Given the description of an element on the screen output the (x, y) to click on. 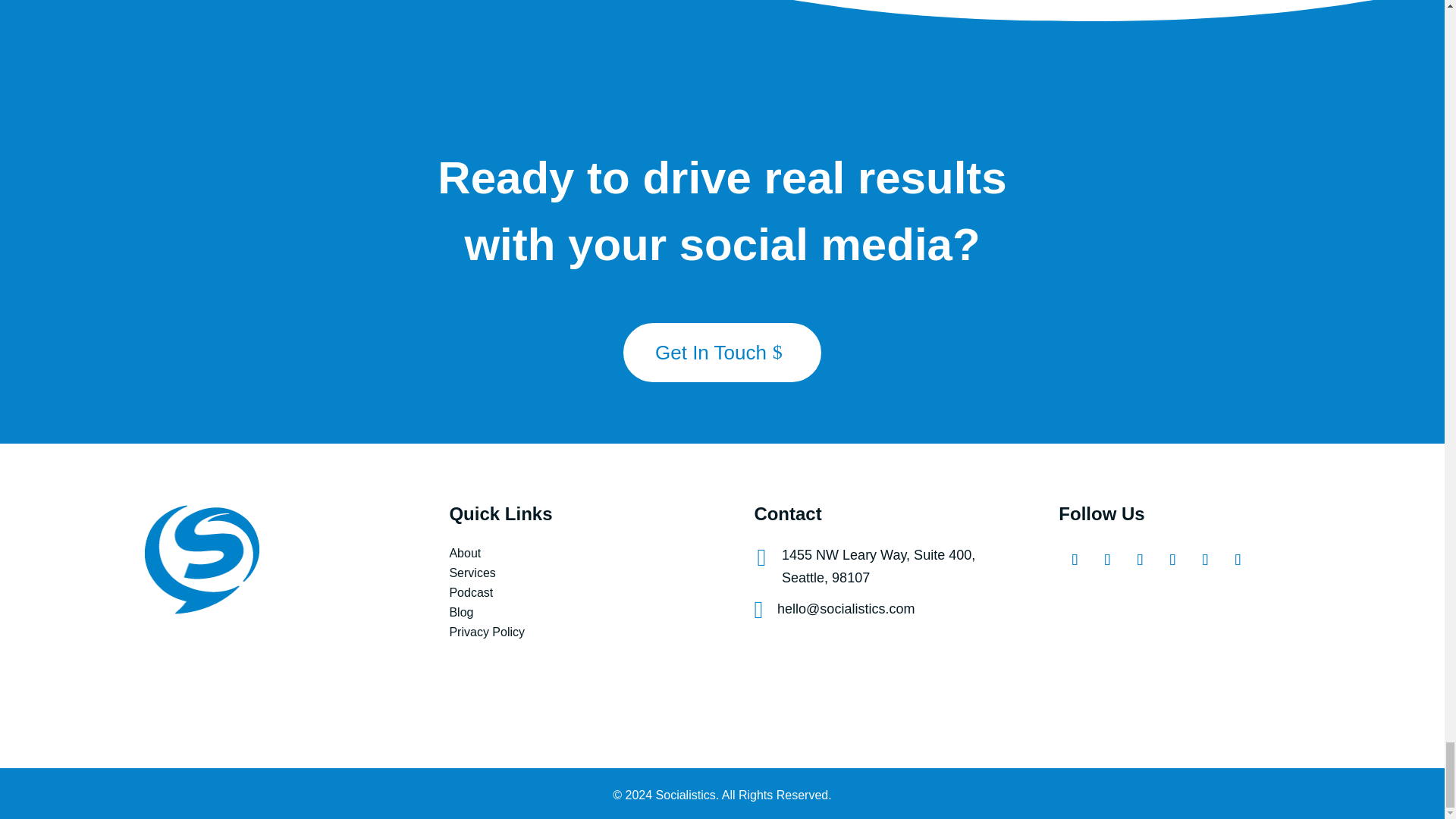
Follow on Instagram (1104, 556)
Follow on TikTok (1234, 556)
Follow on X (1137, 556)
Follow on LinkedIn (1202, 556)
dot-pattern-3 (1396, 375)
dot-pattern-3 (48, 45)
Follow on Facebook (1071, 556)
Follow on Youtube (1169, 556)
